Given the description of an element on the screen output the (x, y) to click on. 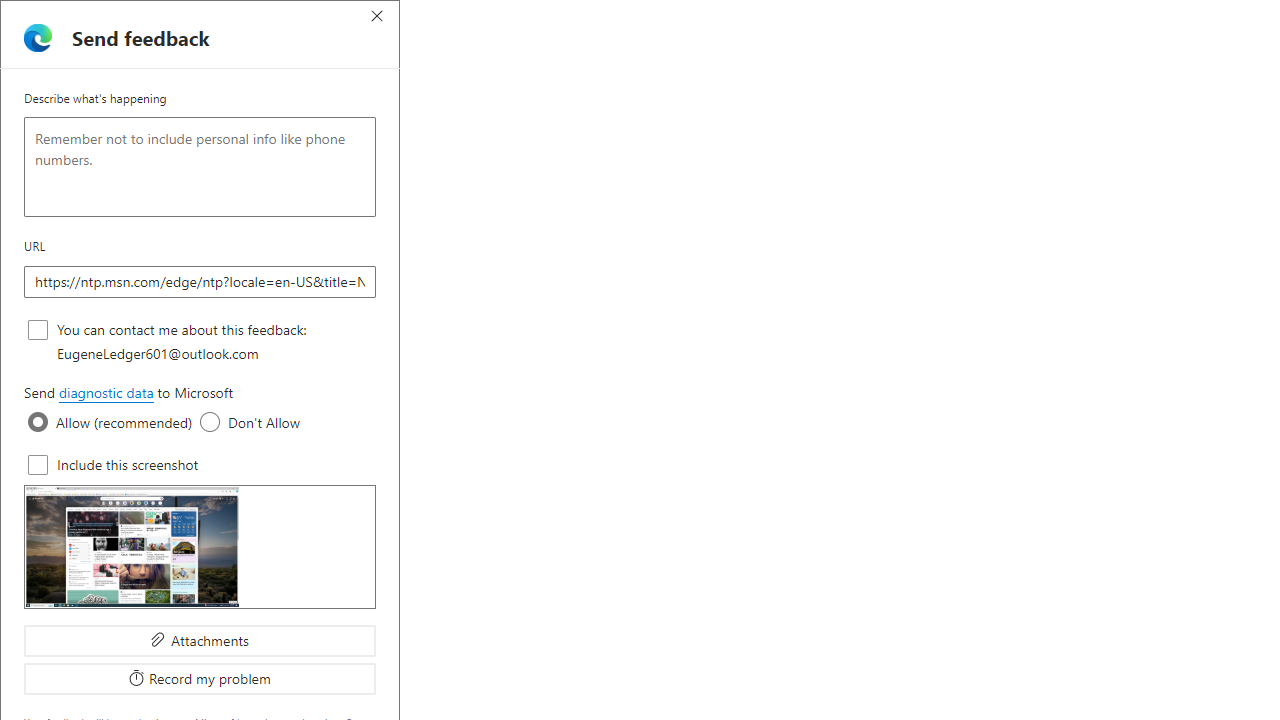
Privacy report (904, 96)
View site information (125, 53)
Nordace - Nordace Siena Is Not An Ordinary Backpack (1149, 17)
AI Voice Changer for PC and Mac - Voice.ai (556, 17)
Back (24, 52)
Wildlife - MSN (1000, 17)
 What's new? (718, 235)
Microsoft Start Sports - Sleeping (630, 17)
Nordace - Summer Adventures 2024 (1075, 17)
Personal Profile (21, 16)
Privacy Statement (1135, 96)
Privacy dashboard (786, 96)
New tab - Sleeping (519, 17)
